Given the description of an element on the screen output the (x, y) to click on. 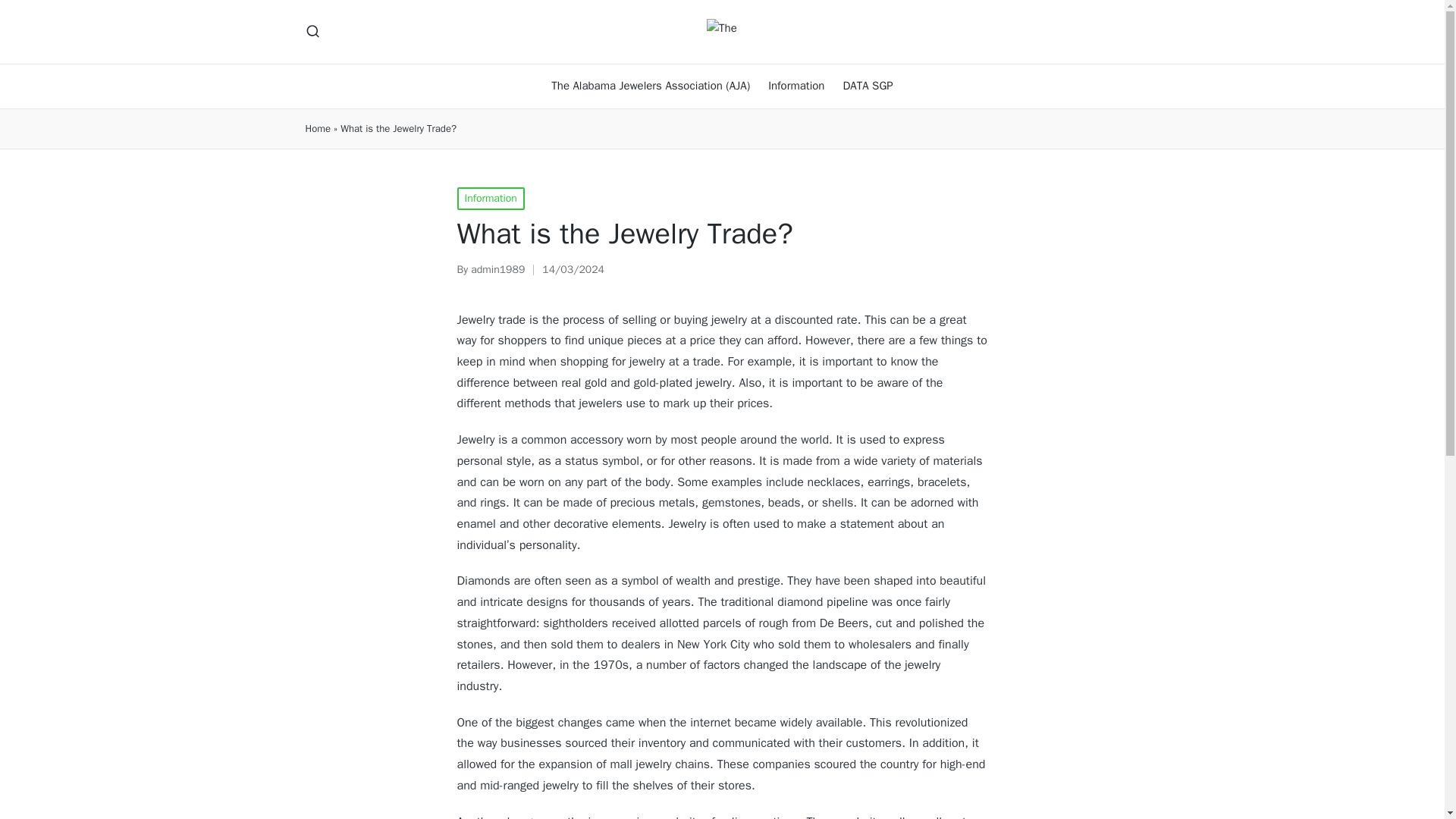
Home (317, 129)
Information (490, 198)
View all posts by admin1989 (497, 269)
Information (796, 86)
DATA SGP (867, 86)
admin1989 (497, 269)
